Given the description of an element on the screen output the (x, y) to click on. 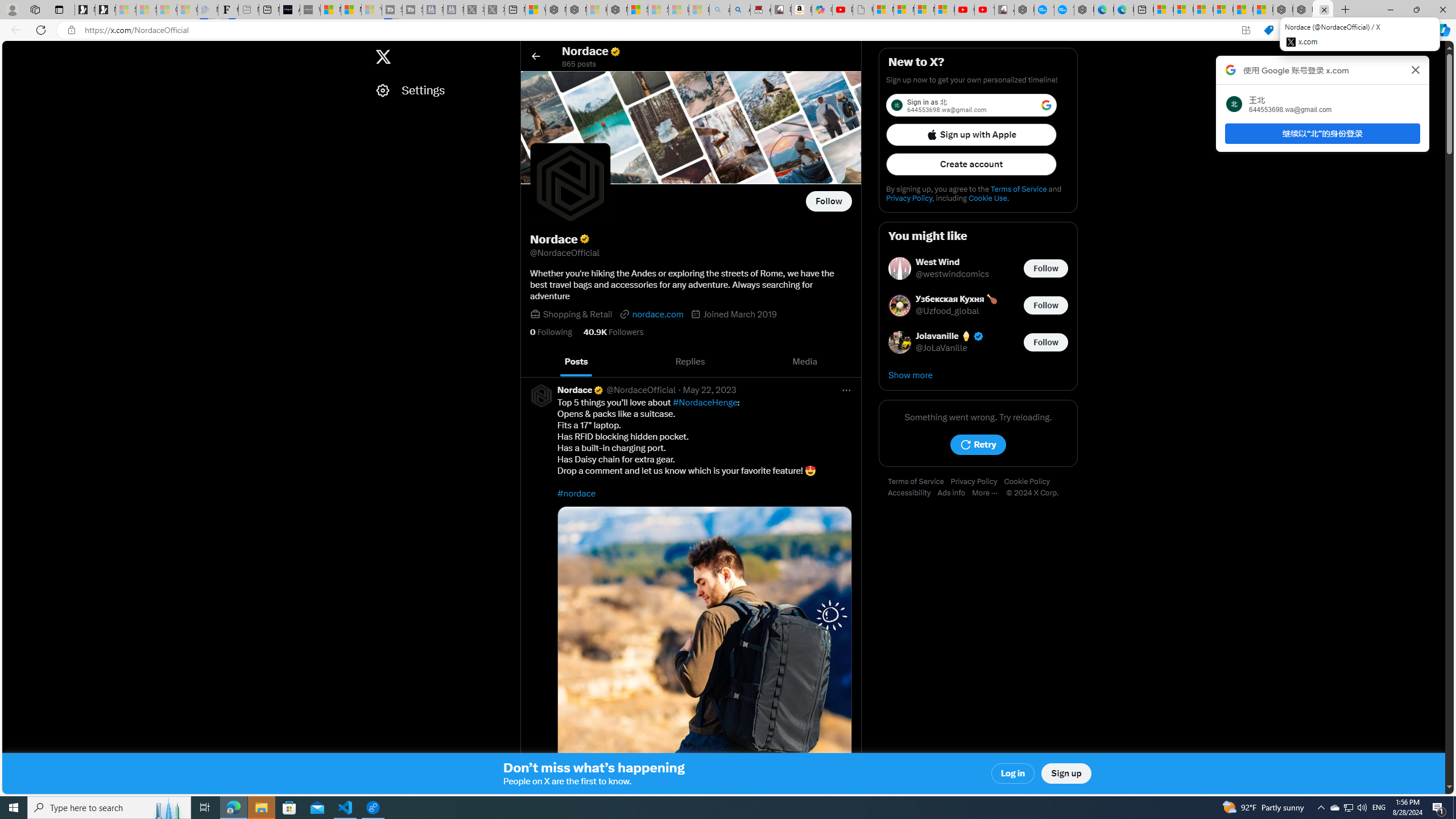
Image (704, 653)
Cookie Use. (988, 198)
Shopping in Microsoft Edge (1268, 29)
@JoLaVanille (940, 348)
#NordaceHenge (705, 402)
Square profile picture and Opens profile photo (570, 182)
#nordace (576, 493)
Microsoft account | Privacy (1222, 9)
Wildlife - MSN (534, 9)
Media (804, 361)
Class: LgbsSe-Bz112c (1046, 104)
